Given the description of an element on the screen output the (x, y) to click on. 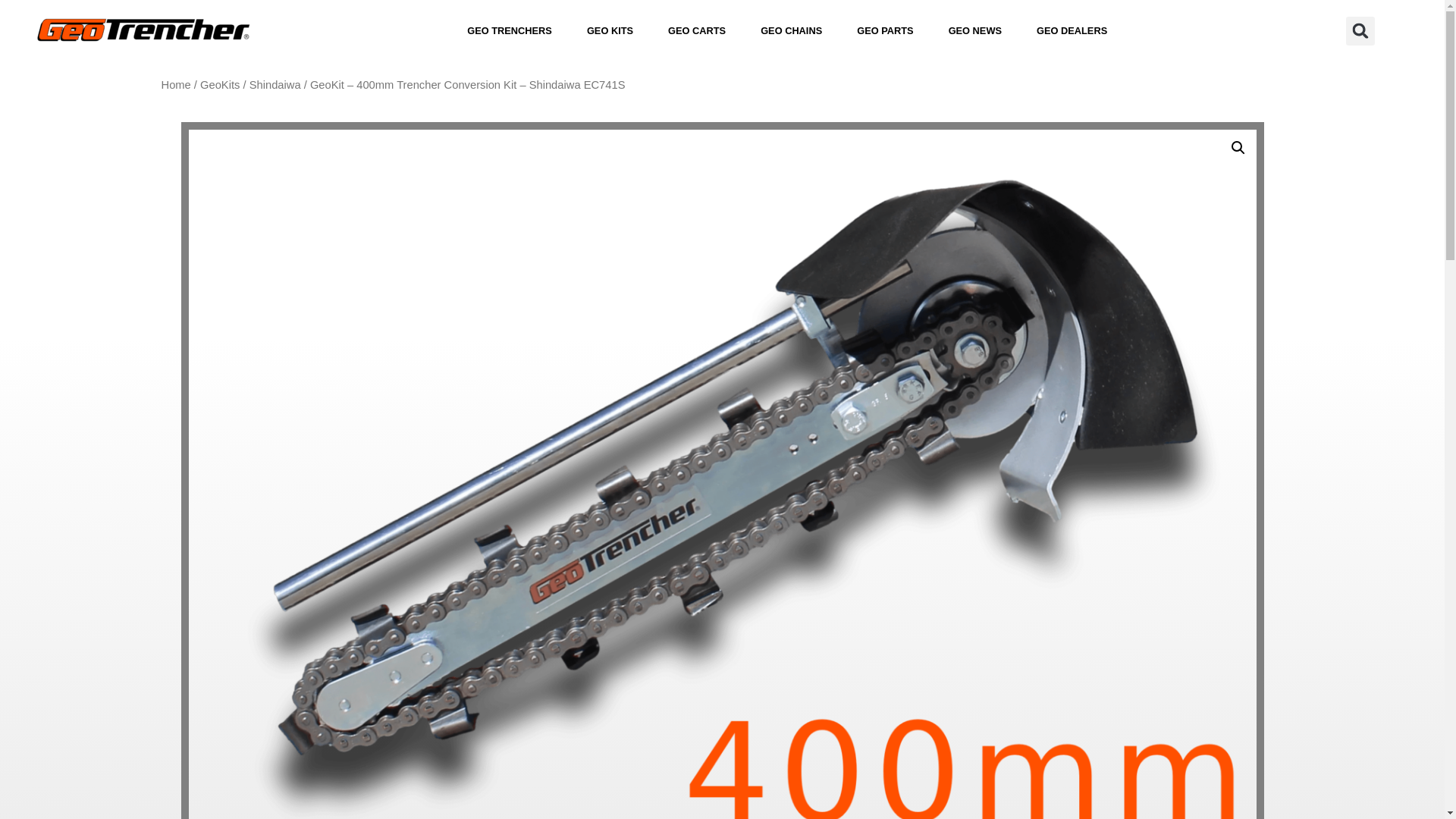
GEO NEWS (975, 30)
Home (175, 84)
GEO CHAINS (791, 30)
GEO KITS (609, 30)
GEO TRENCHERS (509, 30)
GEO CARTS (696, 30)
GeoKits (220, 84)
GEO PARTS (885, 30)
GEO DEALERS (1071, 30)
Shindaiwa (274, 84)
